Given the description of an element on the screen output the (x, y) to click on. 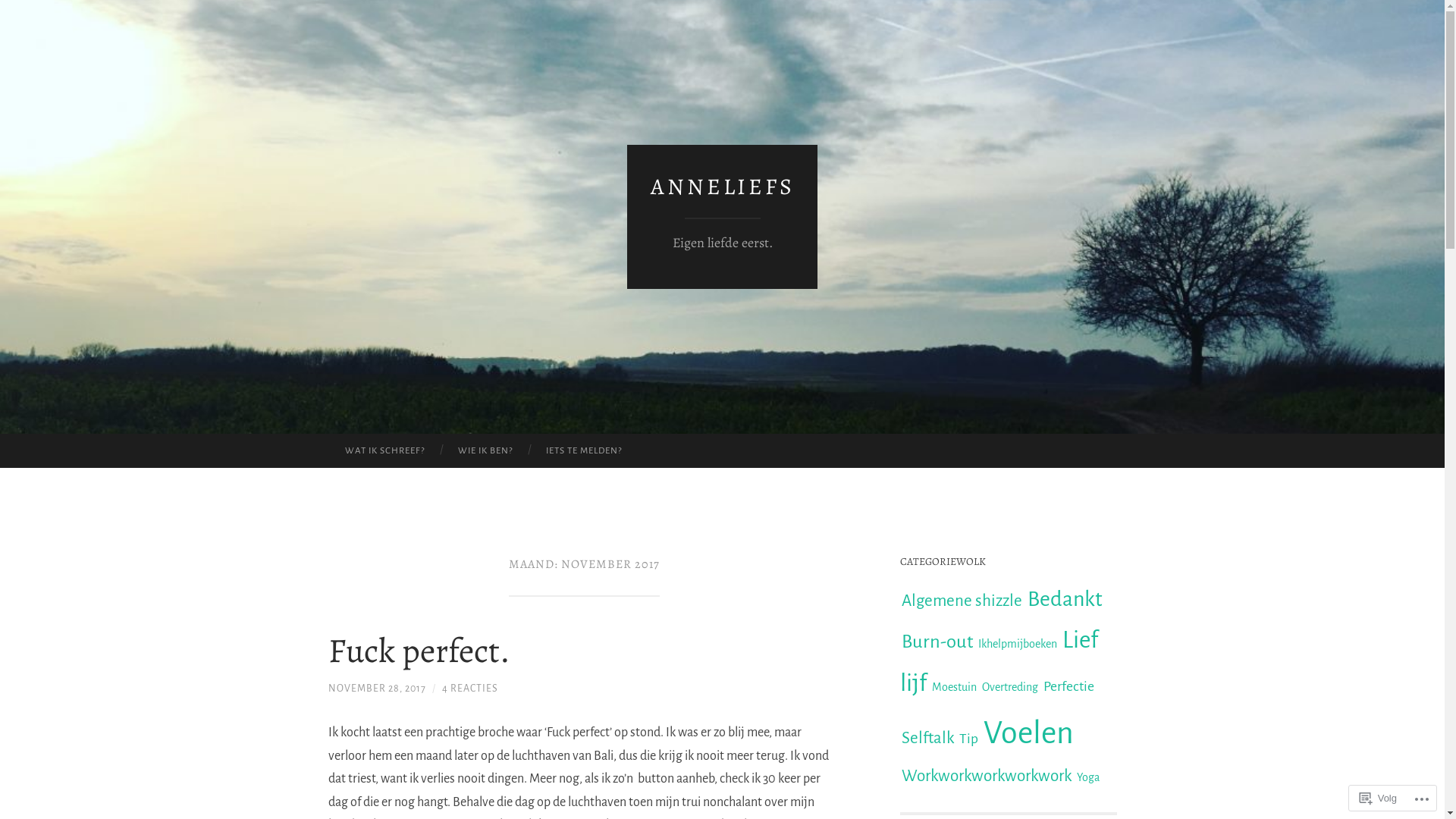
Workworkworkworkwork Element type: text (986, 775)
Burn-out Element type: text (936, 641)
Fuck perfect. Element type: text (418, 650)
ANNELIEFS Element type: text (722, 186)
WAT IK SCHREEF? Element type: text (383, 450)
Selftalk Element type: text (927, 737)
Perfectie Element type: text (1067, 685)
Ikhelpmijboeken Element type: text (1016, 643)
4 REACTIES Element type: text (469, 688)
Volg Element type: text (1377, 797)
Tip Element type: text (968, 738)
Moestuin Element type: text (954, 686)
Bedankt Element type: text (1064, 598)
Algemene shizzle Element type: text (961, 600)
Lief lijf Element type: text (998, 661)
WIE IK BEN? Element type: text (485, 450)
NOVEMBER 28, 2017 Element type: text (376, 688)
Voelen Element type: text (1028, 732)
Yoga Element type: text (1087, 777)
Overtreding Element type: text (1009, 686)
IETS TE MELDEN? Element type: text (583, 450)
